Given the description of an element on the screen output the (x, y) to click on. 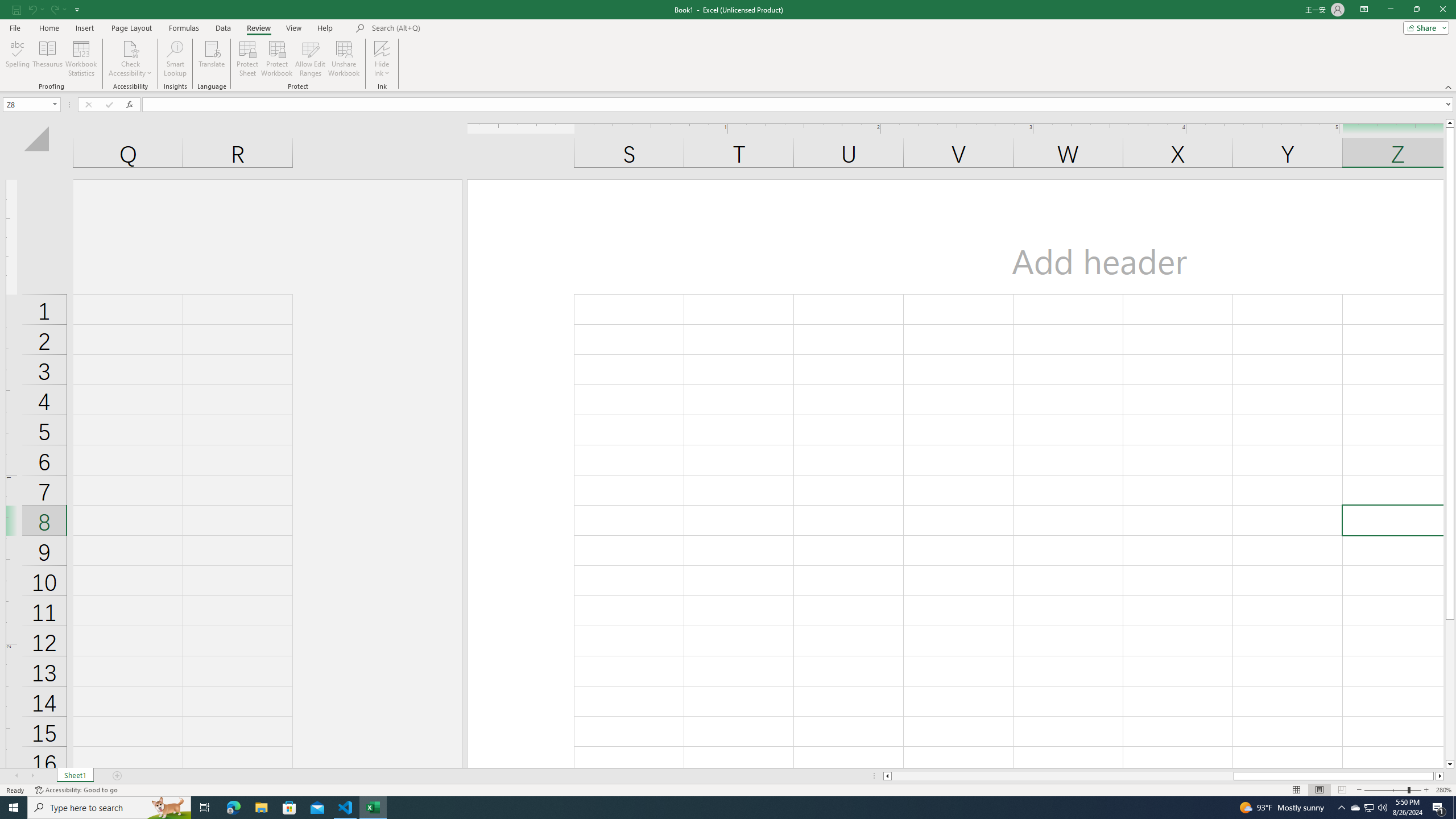
Smart Lookup (175, 58)
